Given the description of an element on the screen output the (x, y) to click on. 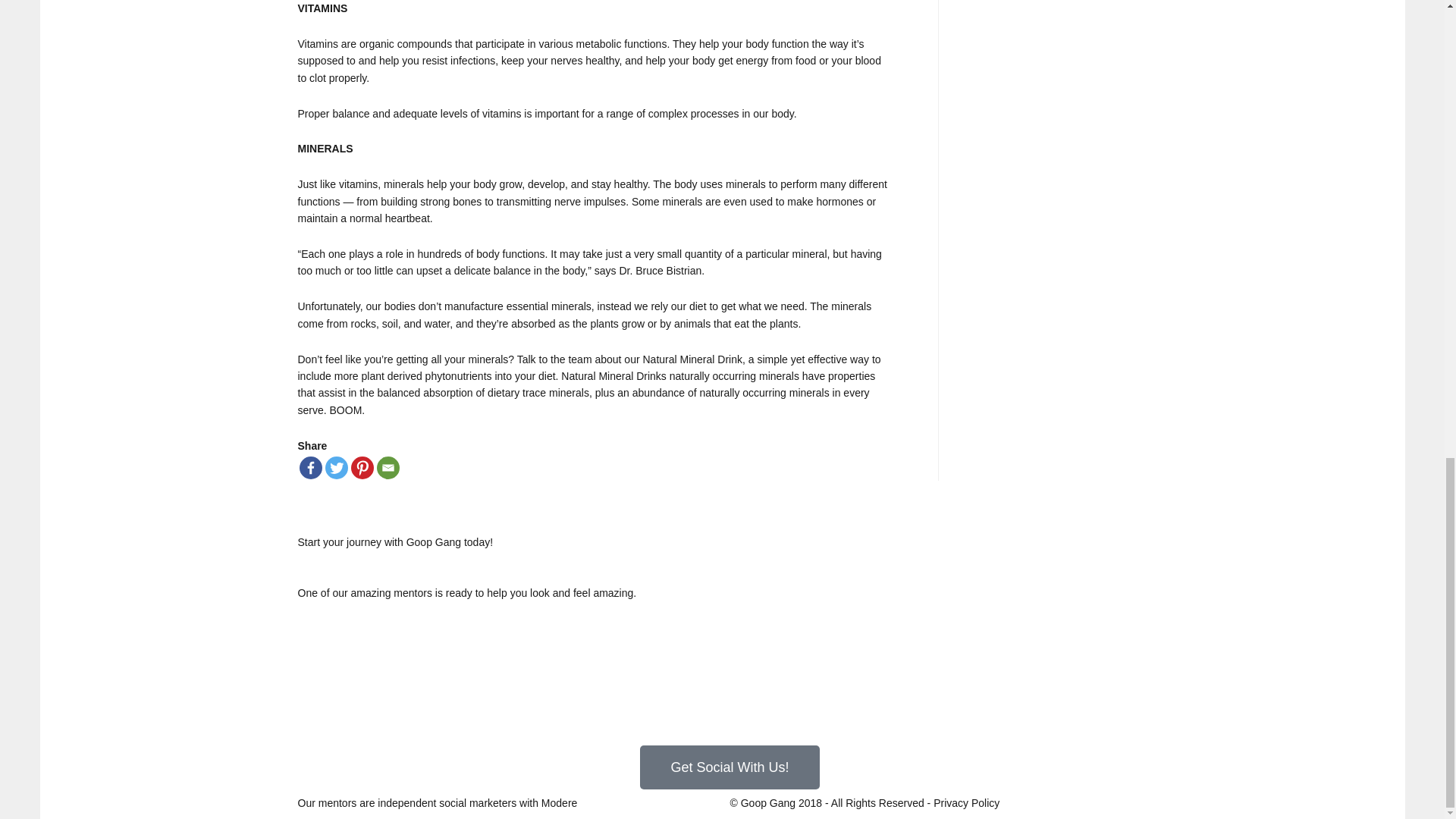
Privacy Policy (965, 802)
Pinterest (361, 467)
Facebook (309, 467)
Email (386, 467)
Get Social With Us! (729, 767)
Twitter (335, 467)
